Given the description of an element on the screen output the (x, y) to click on. 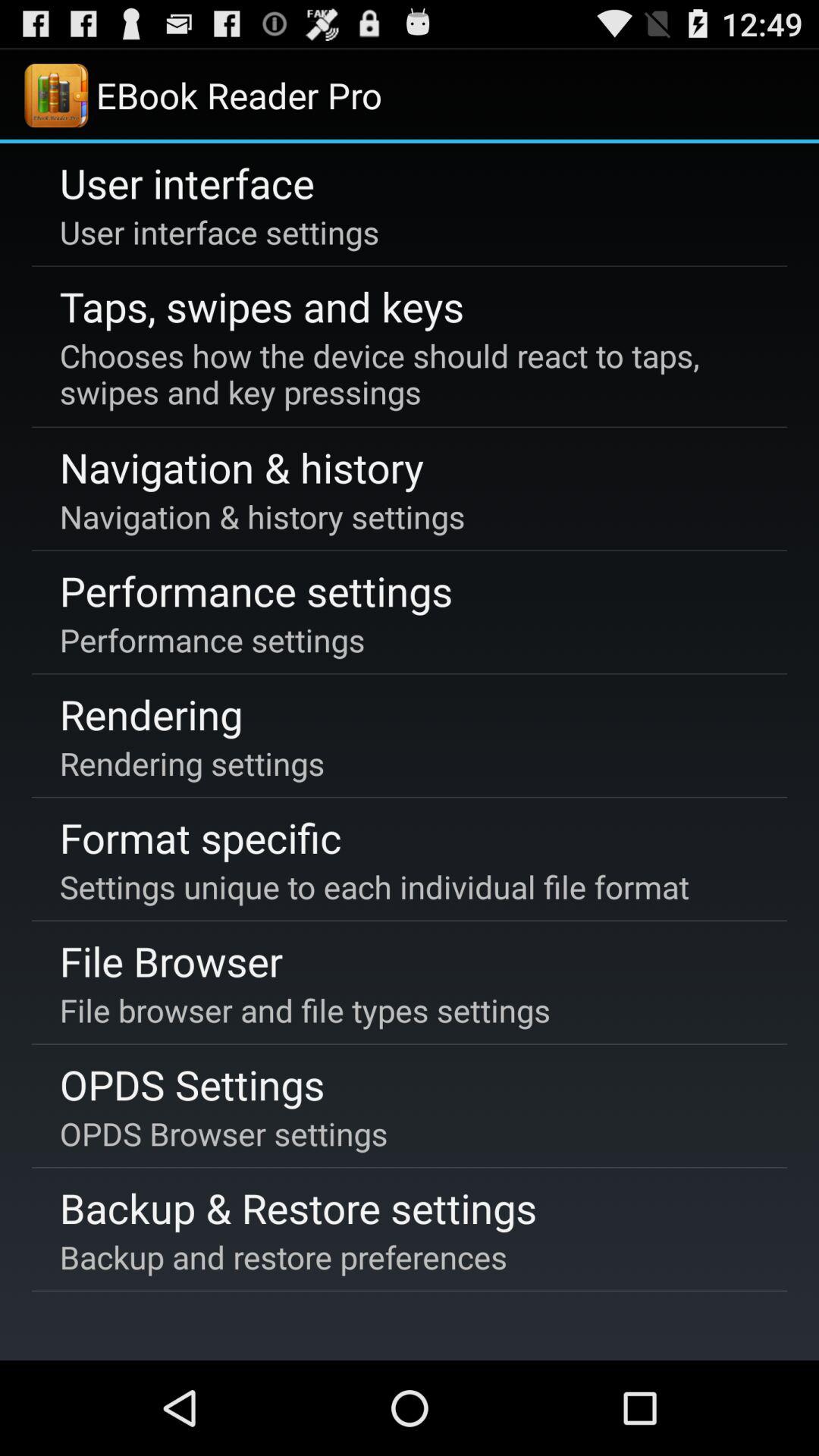
open the item below the rendering (191, 762)
